Given the description of an element on the screen output the (x, y) to click on. 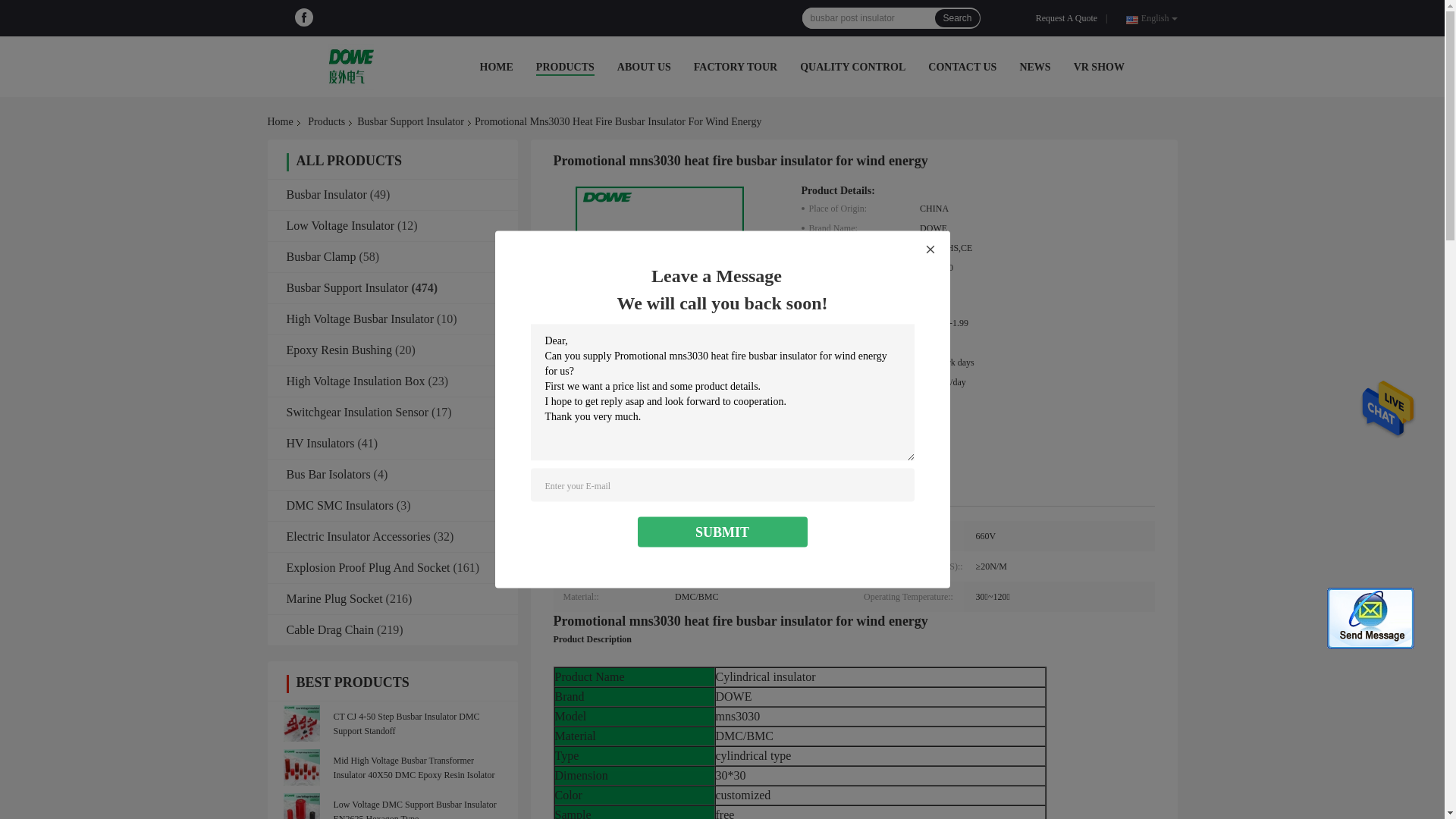
QUALITY CONTROL Element type: text (852, 66)
CONTACT US Element type: text (962, 66)
Home Element type: text (282, 121)
Electric Insulator Accessories Element type: text (358, 536)
Switchgear Insulation Sensor Element type: text (357, 411)
Marine Plug Socket Element type: text (334, 598)
Busbar Support Insulator Element type: text (410, 121)
CT CJ 4-50 Step Busbar Insulator DMC Support Standoff Element type: hover (300, 723)
High Voltage Busbar Insulator Element type: text (360, 318)
HV Insulators Element type: text (320, 442)
PRODUCTS Element type: text (565, 66)
Explosion Proof Plug And Socket Element type: text (368, 567)
Products Element type: text (326, 121)
CT CJ 4-50 Step Busbar Insulator DMC Support Standoff Element type: text (406, 723)
Search Element type: text (957, 18)
Contact Now Element type: text (837, 409)
VR SHOW Element type: text (1098, 66)
Bus Bar Isolators Element type: text (328, 473)
Busbar Support Insulator Element type: text (347, 287)
Cable Drag Chain Element type: text (330, 629)
HOME Element type: text (495, 66)
Busbar Insulator Element type: text (326, 194)
DMC SMC Insulators Element type: text (339, 504)
Low Voltage Insulator Element type: text (340, 225)
Busbar Clamp Element type: text (321, 256)
ABOUT US Element type: text (644, 66)
Chat Now Element type: text (907, 409)
Epoxy Resin Bushing Element type: text (339, 349)
NEWS Element type: text (1034, 66)
Request A Quote Element type: text (1069, 18)
FACTORY TOUR Element type: text (735, 66)
High Voltage Insulation Box Element type: text (355, 380)
